Given the description of an element on the screen output the (x, y) to click on. 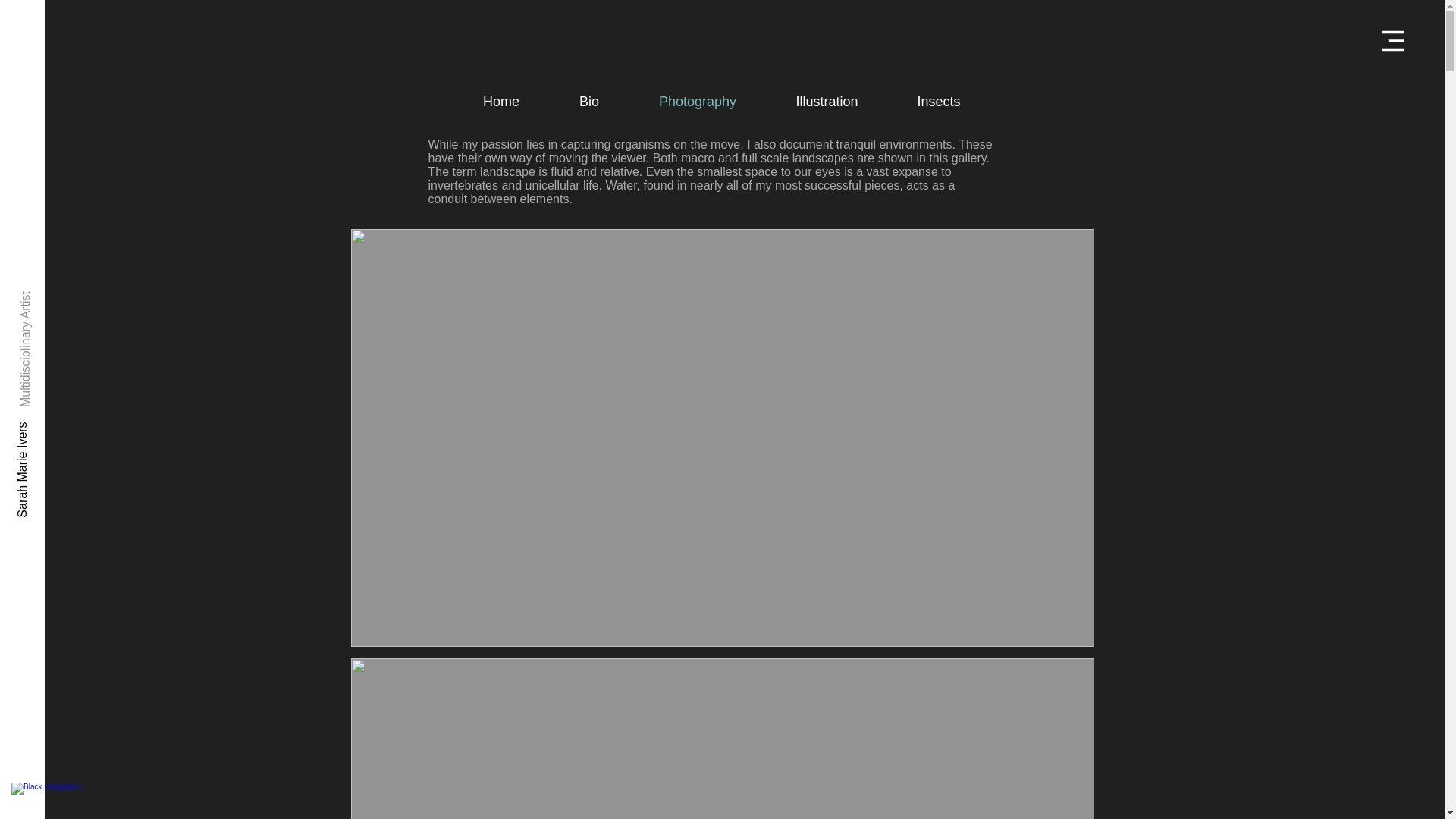
Multidisciplinary Artist (81, 291)
Bio (588, 101)
Sarah Marie Ivers (66, 425)
Photography (697, 101)
Home (501, 101)
